Given the description of an element on the screen output the (x, y) to click on. 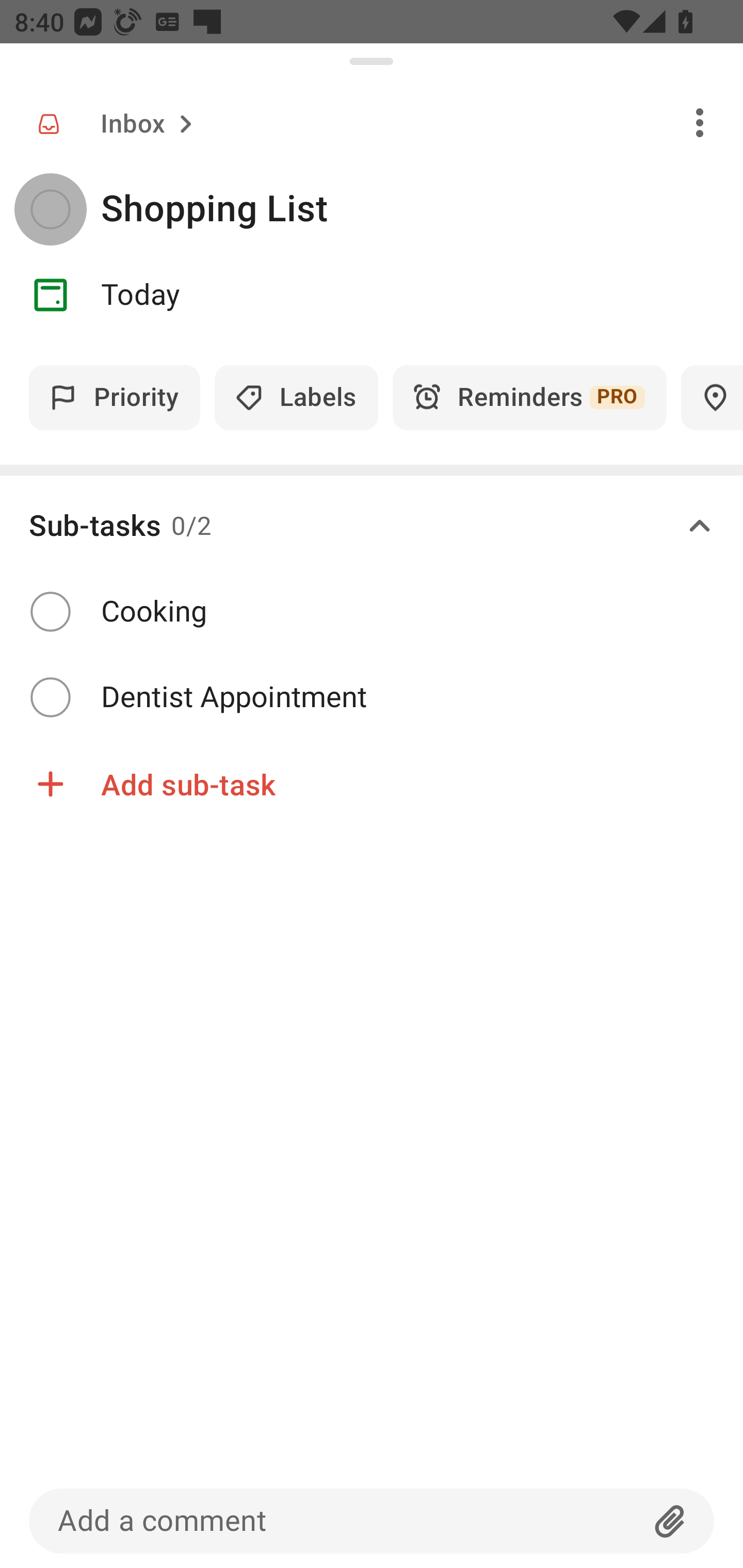
Overflow menu (699, 122)
Complete (50, 209)
Shopping List​ (422, 209)
Date Today (371, 295)
Priority (113, 397)
Labels (296, 397)
Reminders PRO (529, 397)
Locations PRO (712, 397)
Sub-tasks 0/2 Expand/collapse (371, 525)
Expand/collapse (699, 525)
Complete Cooking (371, 612)
Complete (50, 611)
Complete Dentist Appointment (371, 697)
Complete (50, 697)
Add sub-task (371, 783)
Add a comment Attachment (371, 1520)
Attachment (670, 1520)
